Given the description of an element on the screen output the (x, y) to click on. 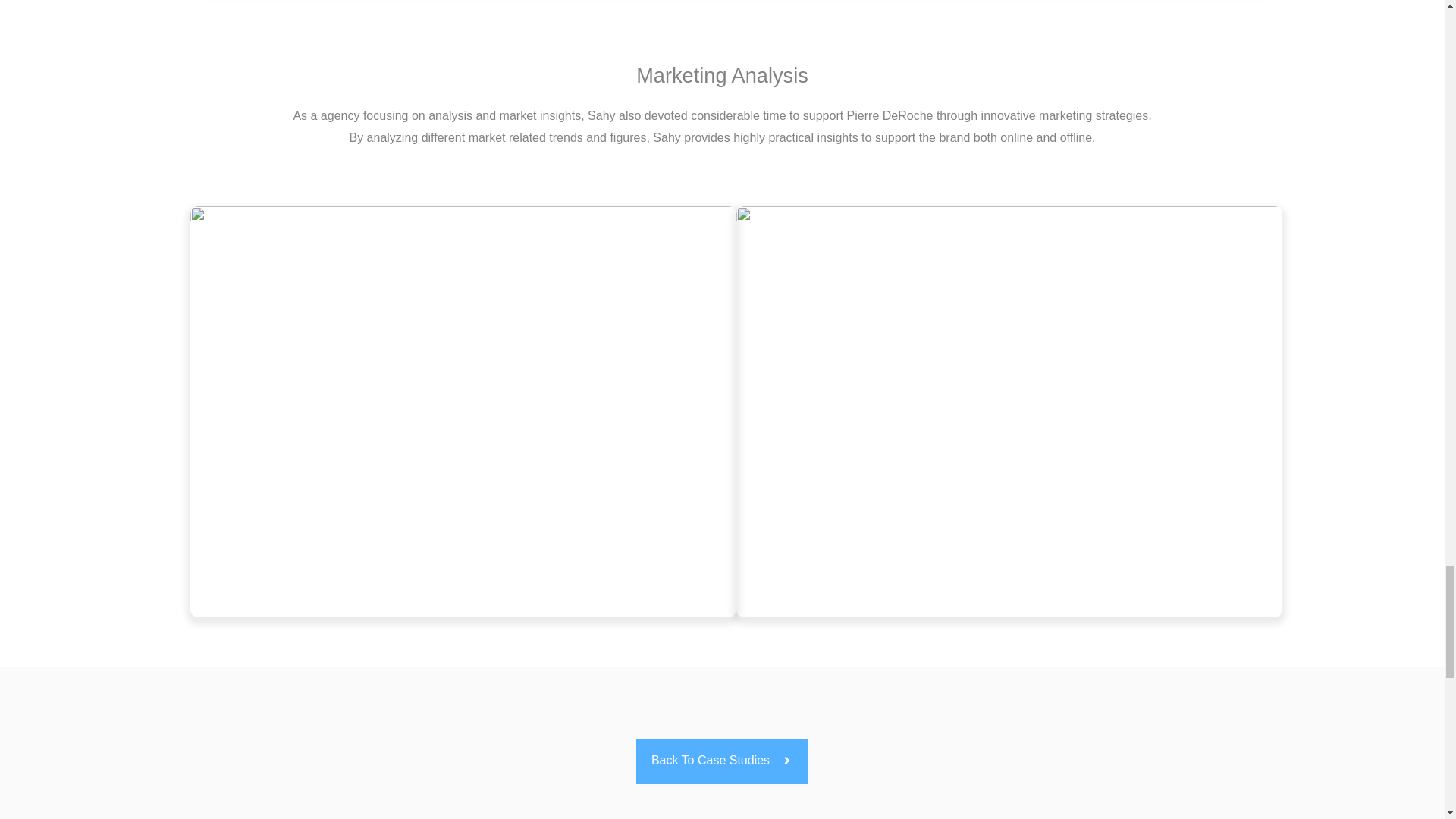
Back To Case Studies (722, 761)
